Given the description of an element on the screen output the (x, y) to click on. 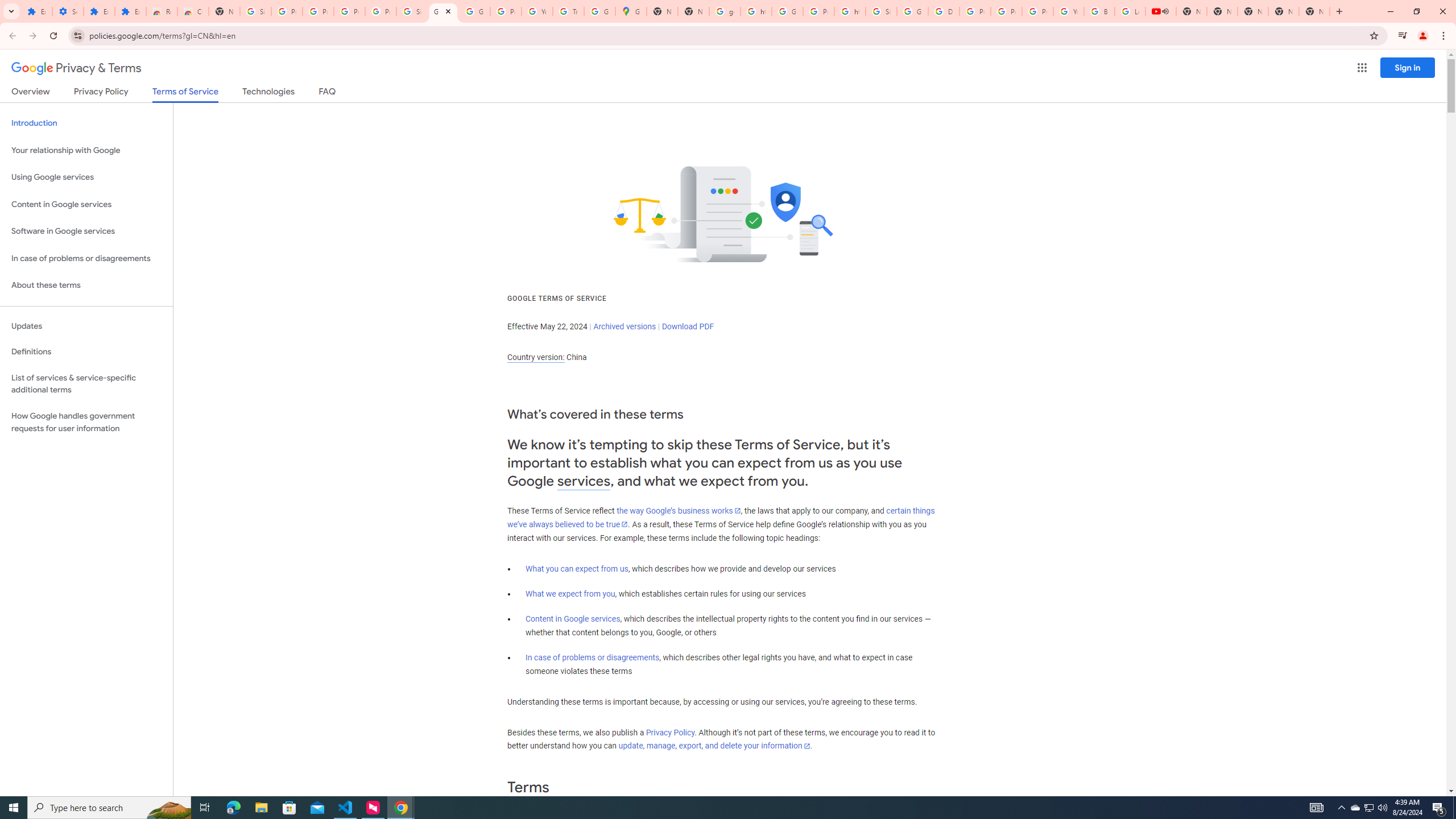
Definitions (86, 352)
YouTube (536, 11)
New Tab (1314, 11)
Extensions (36, 11)
Sign in - Google Accounts (255, 11)
YouTube (1068, 11)
